Given the description of an element on the screen output the (x, y) to click on. 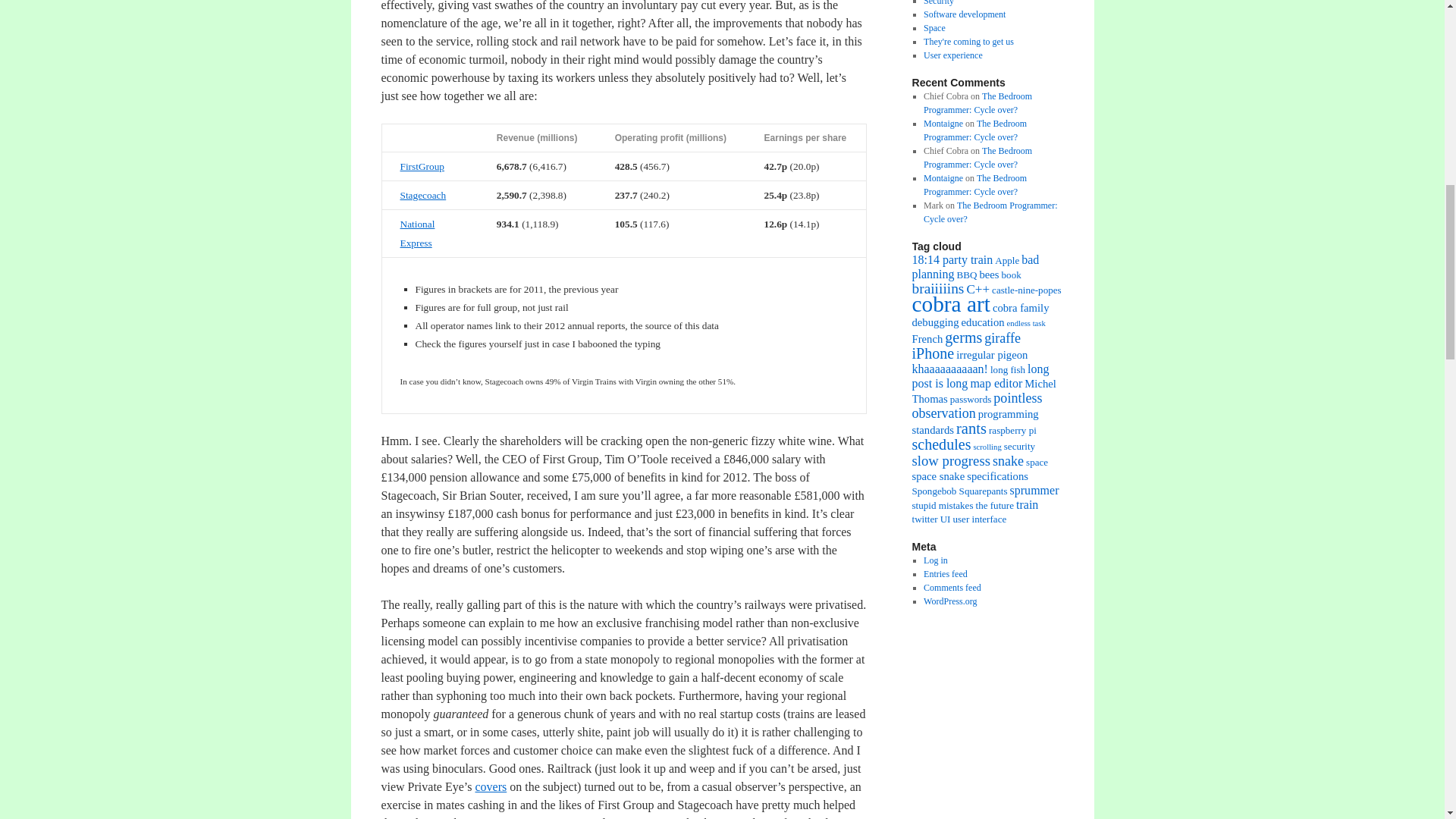
FirstGroup (422, 165)
covers (490, 786)
Stagecoach (423, 194)
National Express (417, 233)
